Given the description of an element on the screen output the (x, y) to click on. 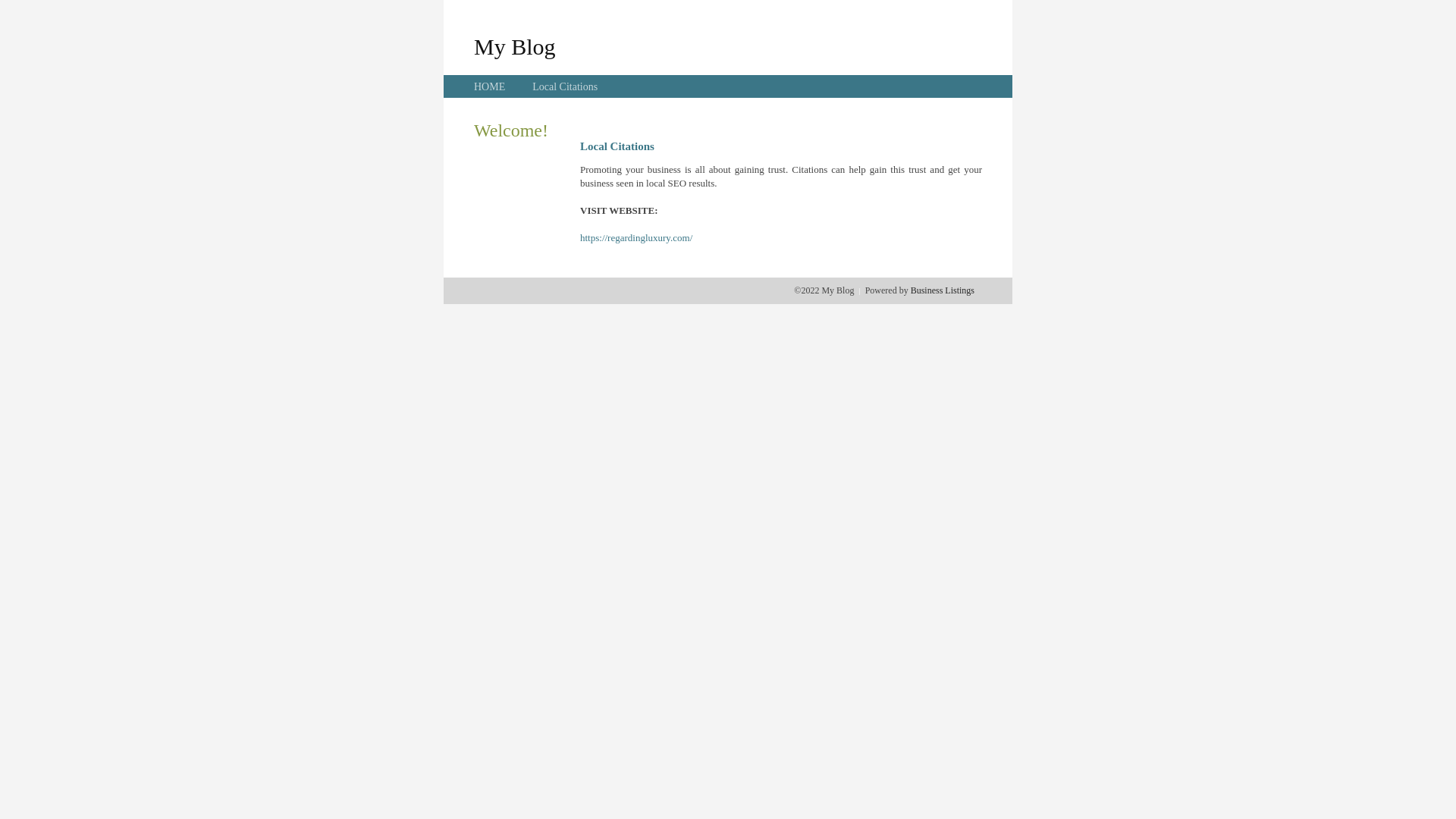
Business Listings Element type: text (942, 290)
Local Citations Element type: text (564, 86)
My Blog Element type: text (514, 46)
HOME Element type: text (489, 86)
https://regardingluxury.com/ Element type: text (636, 237)
